Given the description of an element on the screen output the (x, y) to click on. 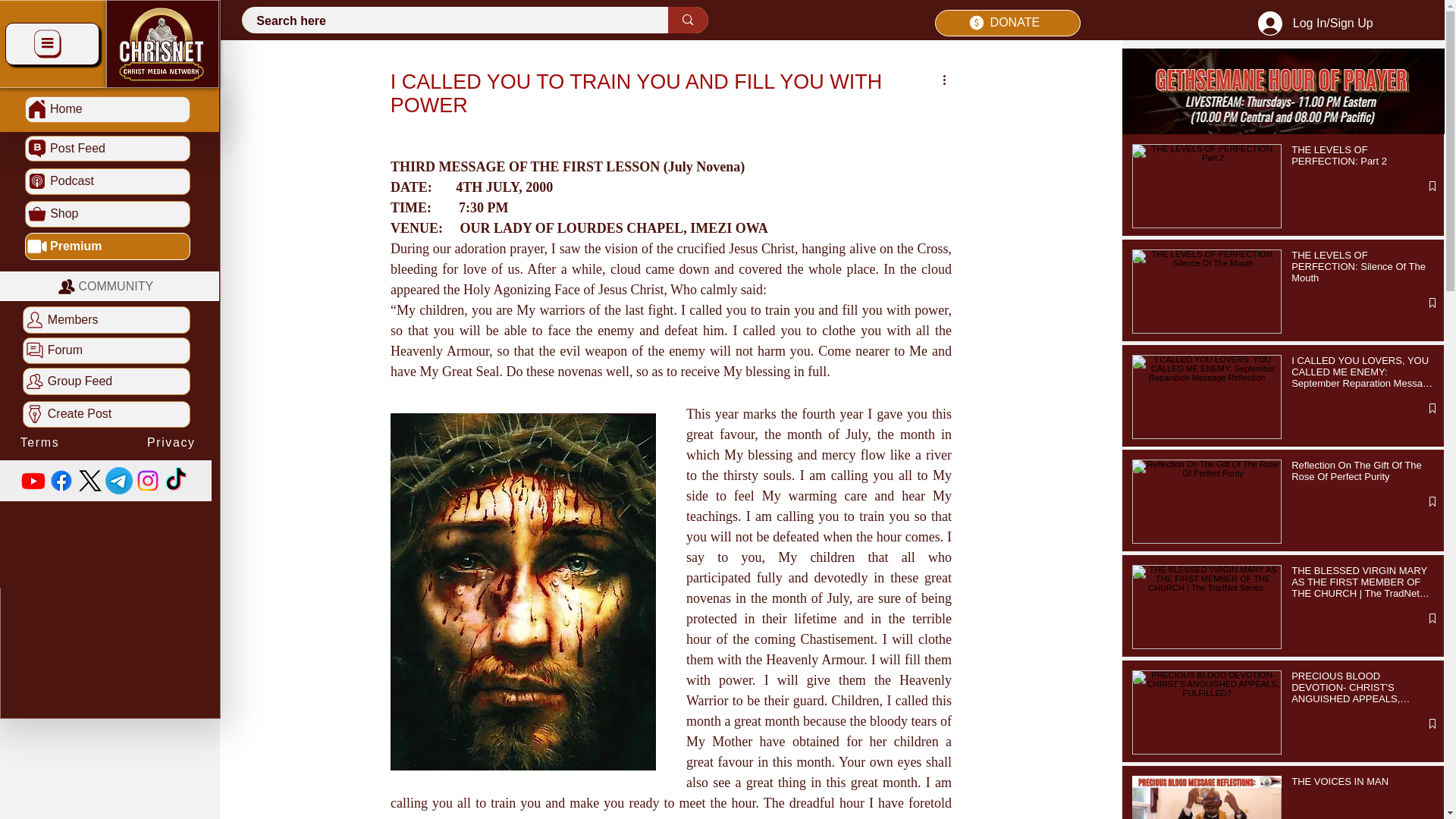
Privacy (1374, 639)
THE LEVELS OF PERFECTION: Part 2 (1362, 158)
THE VOICES IN MAN (1362, 784)
Terms (1174, 639)
THE LEVELS OF PERFECTION: Silence Of The Mouth (1362, 269)
DONATE (1007, 22)
Reflection On The Gift Of The Rose Of Perfect Purity (1362, 473)
